Given the description of an element on the screen output the (x, y) to click on. 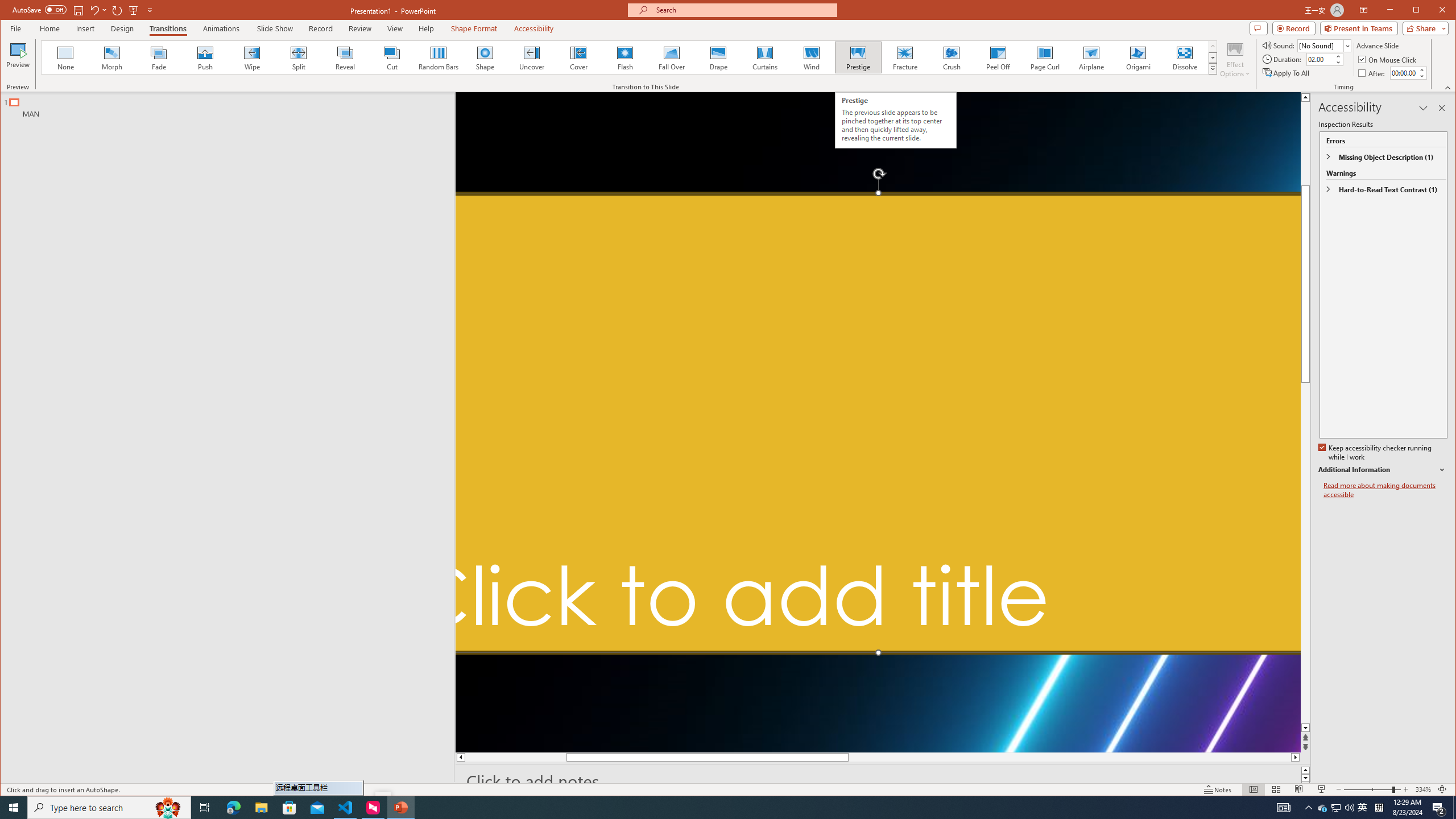
On Mouse Click (1387, 59)
